Given the description of an element on the screen output the (x, y) to click on. 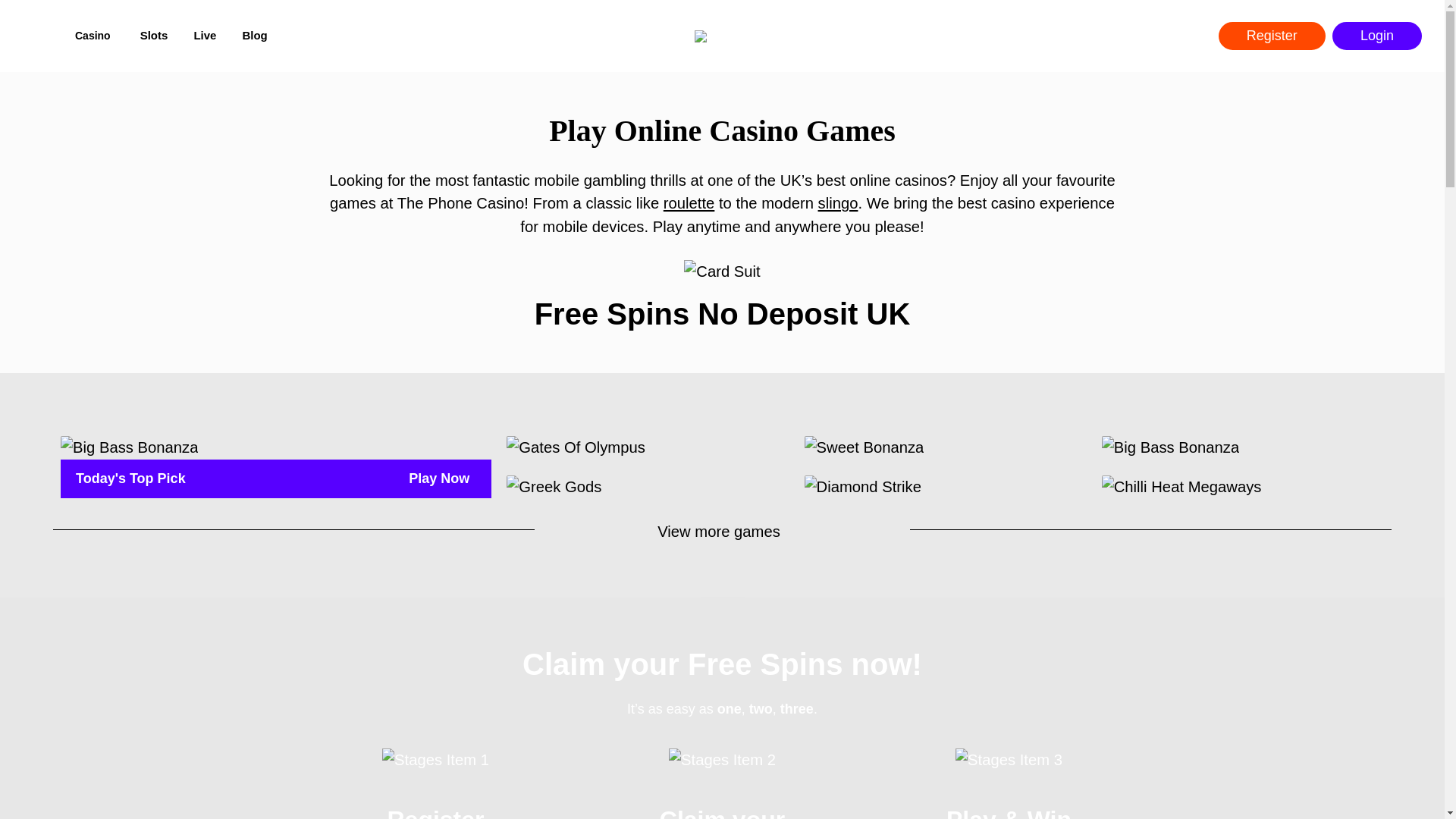
View more games (722, 531)
Login (1377, 35)
Casino (94, 35)
Diamond Strike (863, 486)
slingo (838, 202)
roulette (688, 202)
Greek Gods (553, 486)
Big Bass Bonanza (129, 446)
Big Bass Bonanza (1170, 446)
Card Suit (722, 271)
